Given the description of an element on the screen output the (x, y) to click on. 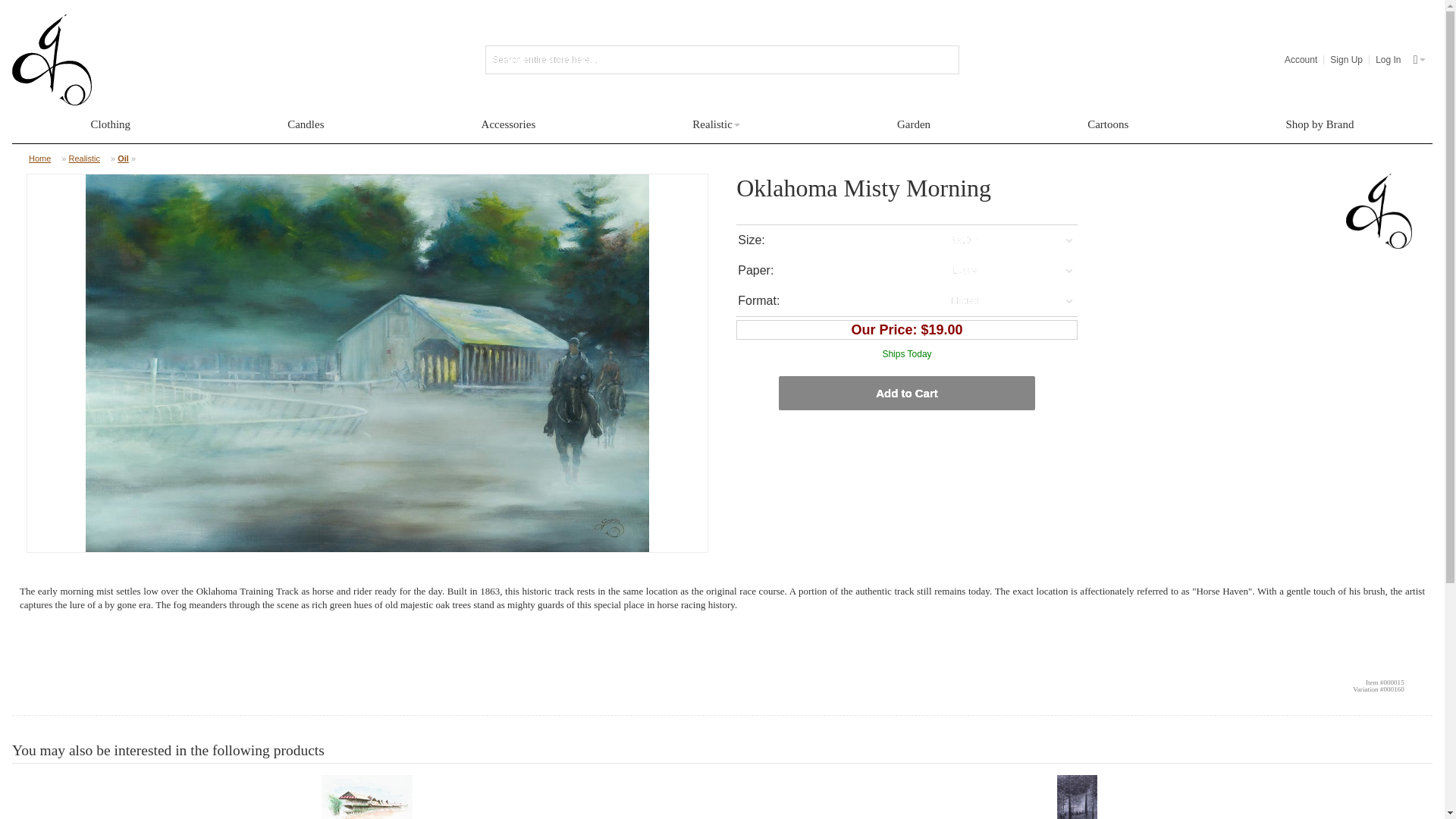
Sign Up (1346, 59)
Accessories (508, 123)
Candles (304, 123)
Garden (913, 123)
Realistic (87, 157)
Shop by Brand (1319, 123)
The Walk (1077, 796)
Account (1300, 59)
Clothing (110, 123)
